Given the description of an element on the screen output the (x, y) to click on. 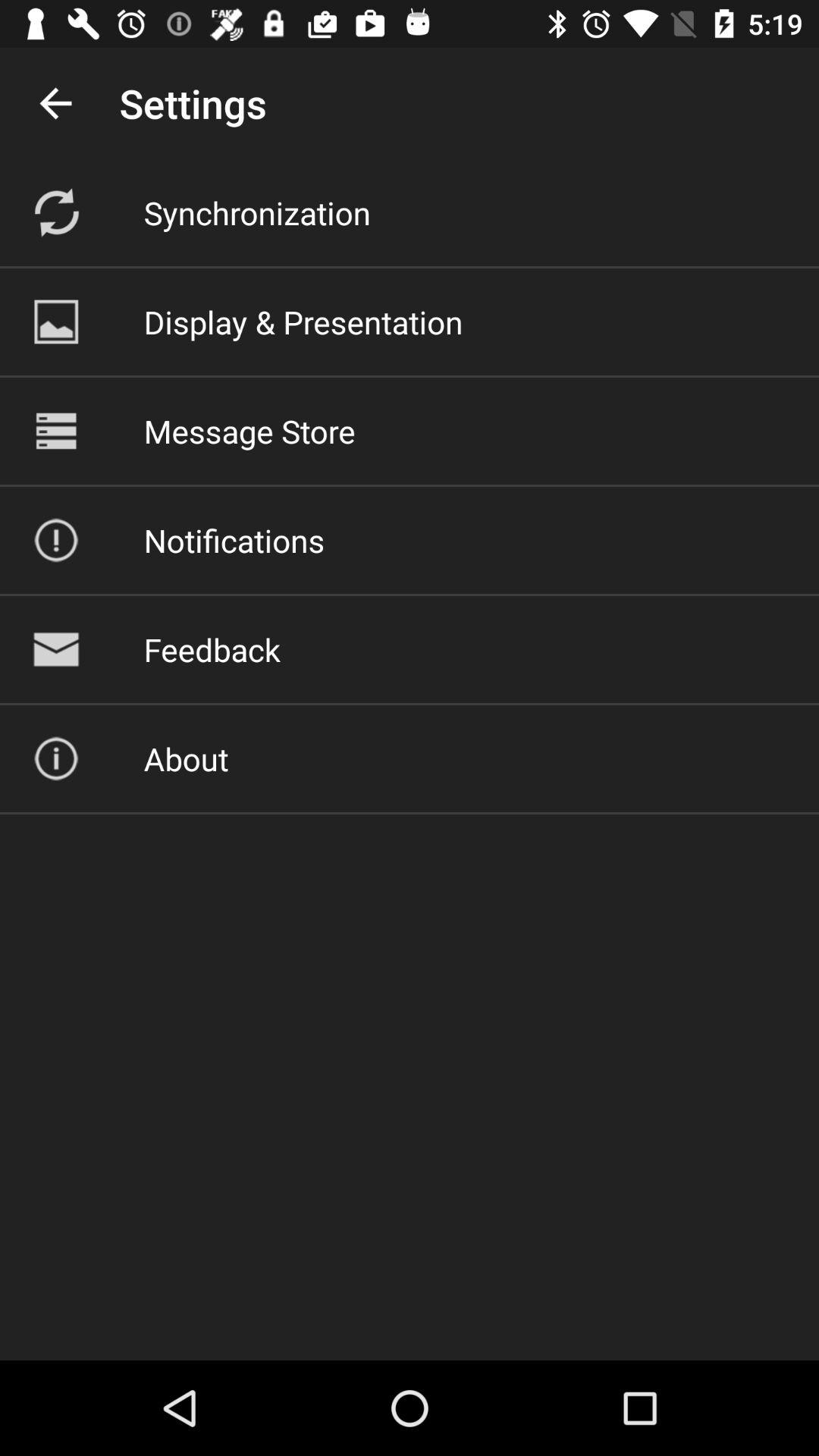
open the icon above the about icon (211, 649)
